Given the description of an element on the screen output the (x, y) to click on. 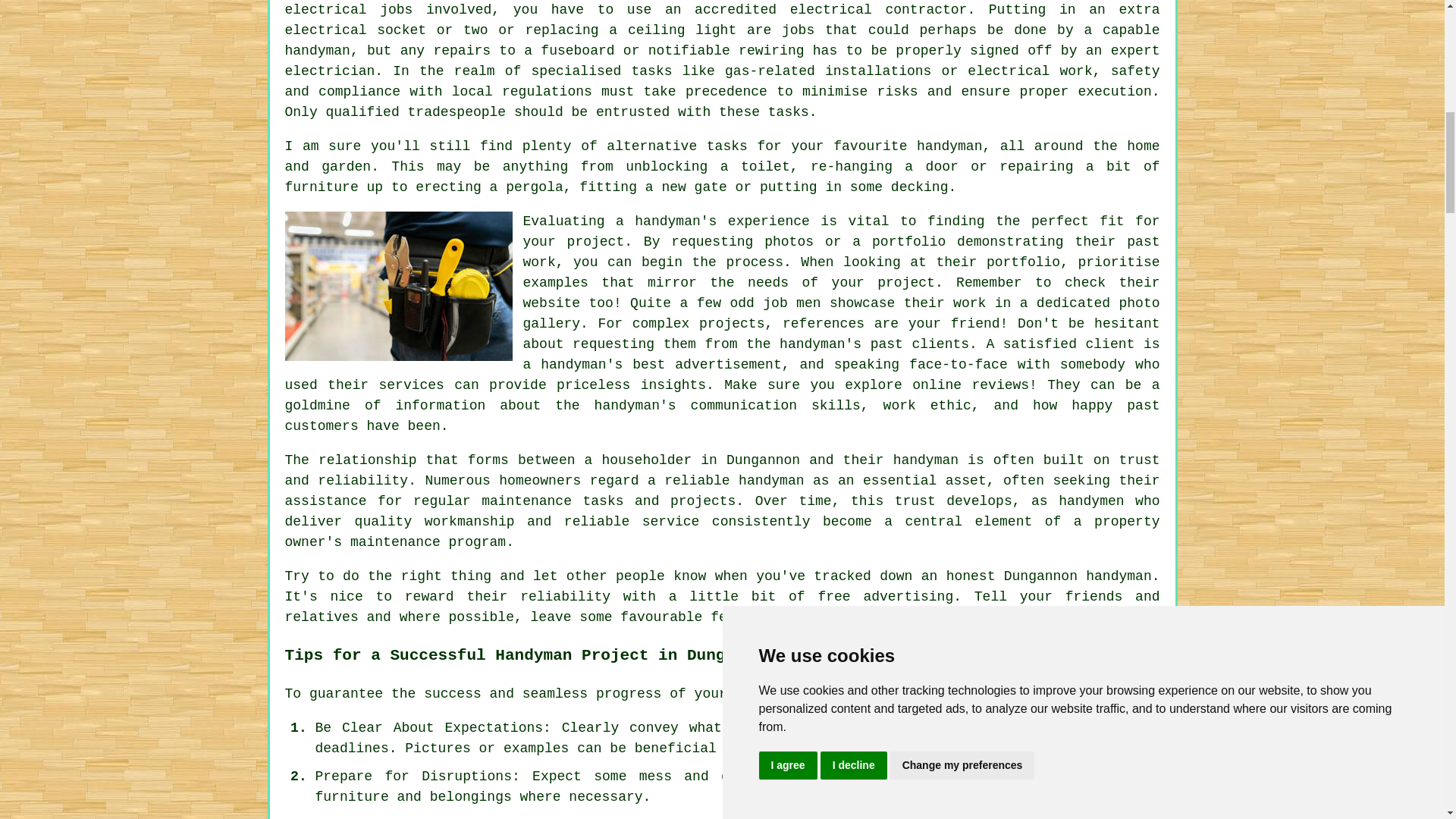
handyman's (635, 405)
handyman (925, 459)
